Given the description of an element on the screen output the (x, y) to click on. 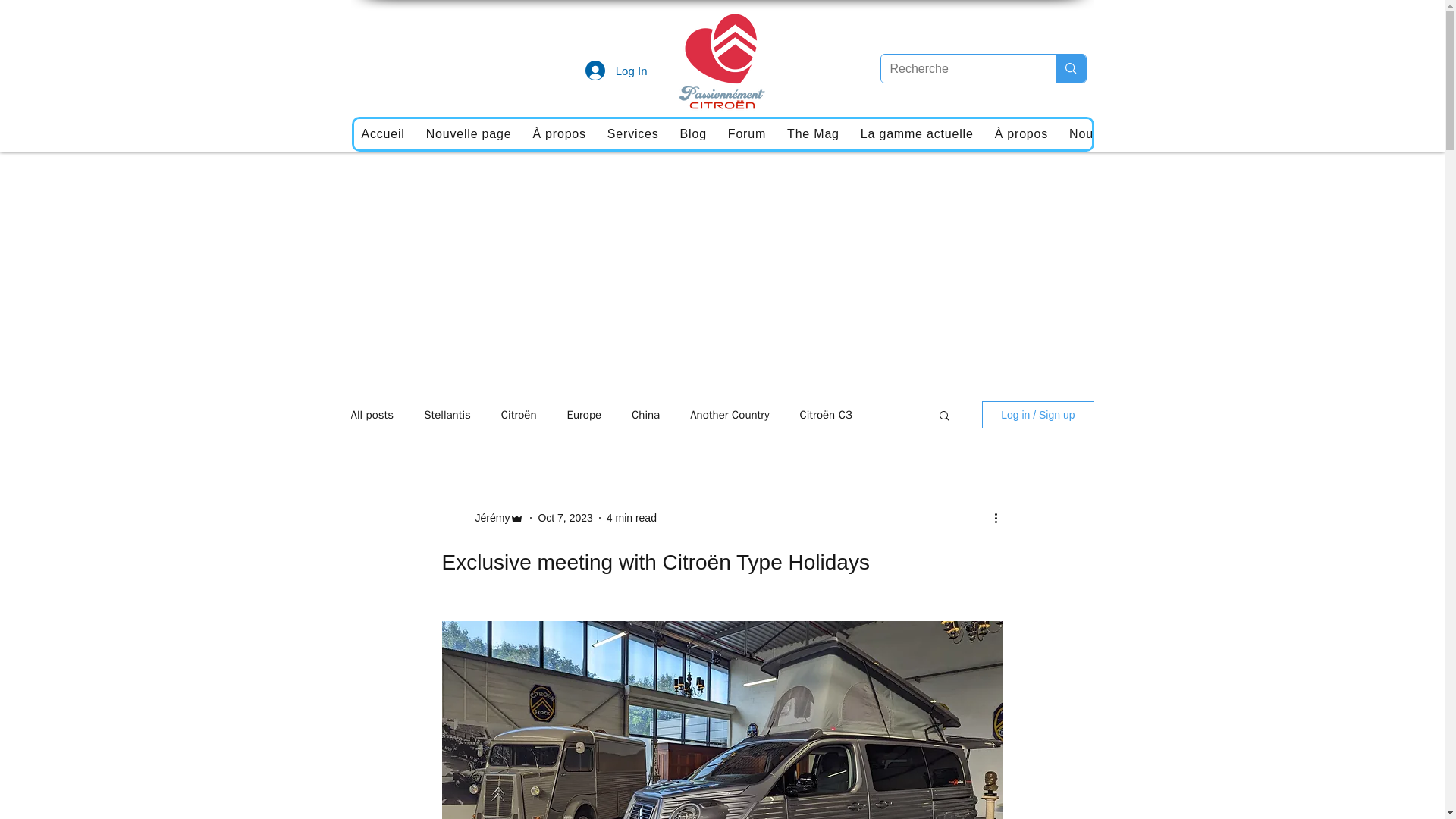
Log In (616, 70)
Blog (693, 133)
La gamme actuelle (917, 133)
All posts (371, 414)
Services (632, 133)
Nouvelle page (1111, 133)
Forum (746, 133)
Nouvelle page (469, 133)
Accueil (382, 133)
Contact (1331, 133)
Oct 7, 2023 (564, 517)
02-Logo Passionnement CITROEN SITE WEB.p (721, 58)
4 min read (631, 517)
The Mag (812, 133)
Europe (584, 414)
